Given the description of an element on the screen output the (x, y) to click on. 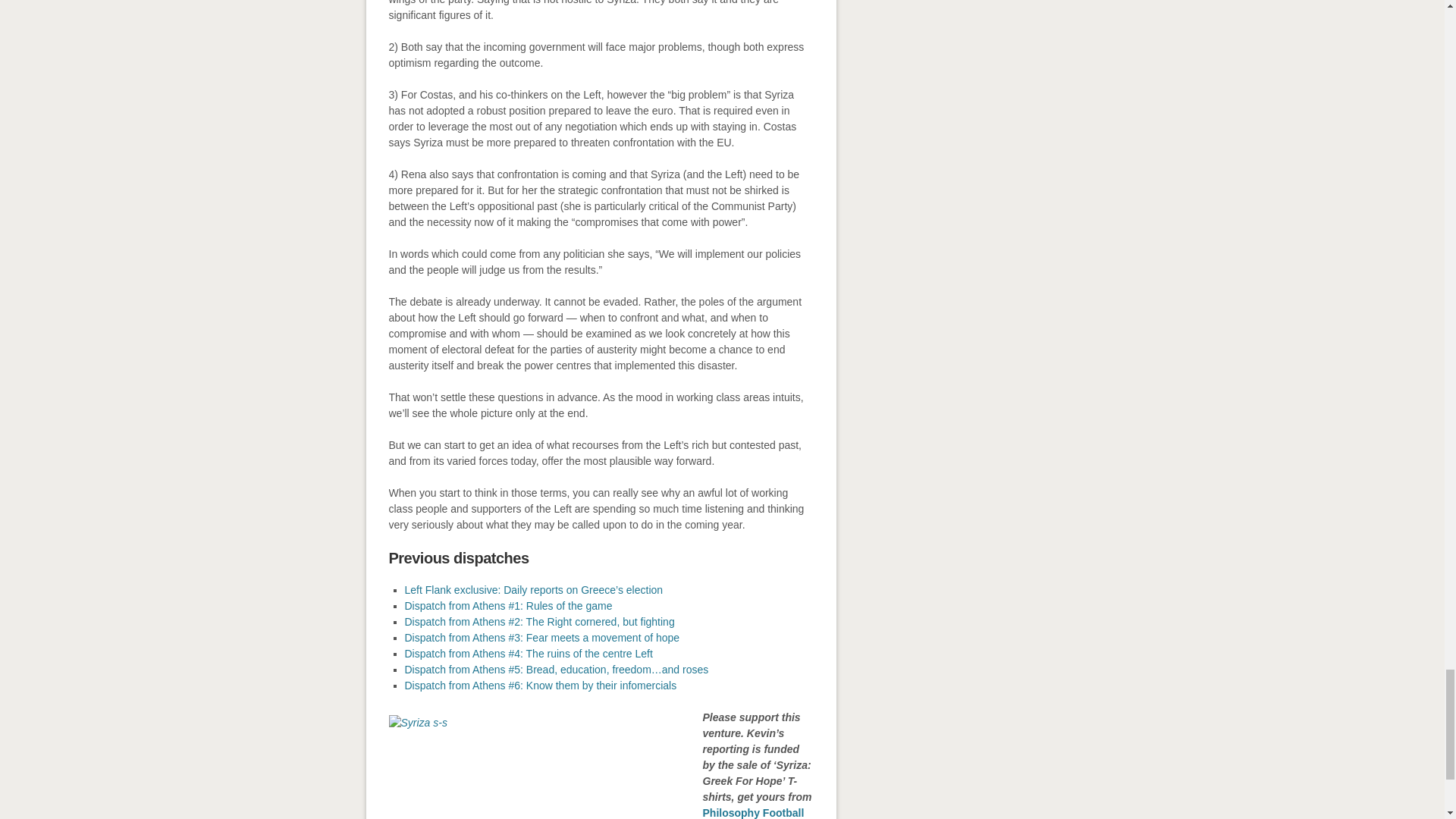
Philosophy Football (752, 812)
